Given the description of an element on the screen output the (x, y) to click on. 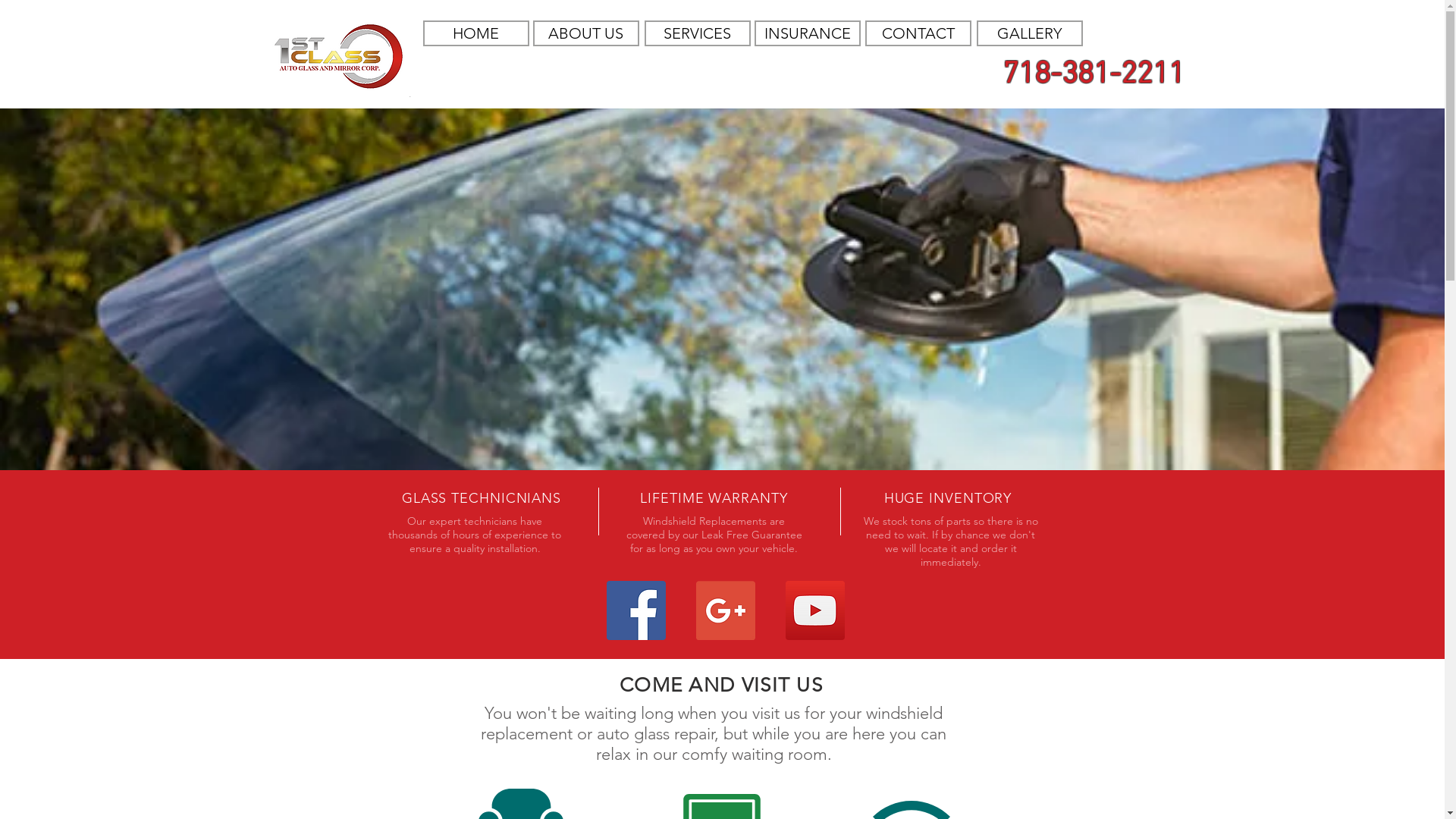
SERVICES Element type: text (698, 33)
INSURANCE Element type: text (806, 33)
HOME Element type: text (492, 33)
HOME Element type: text (476, 33)
QUOTE Element type: text (903, 74)
INSURANCE Element type: text (801, 33)
GALLERY Element type: text (1008, 33)
ABOUT US Element type: text (595, 33)
CONTACT Element type: text (905, 33)
SERVICES Element type: text (697, 33)
CLAIMS Element type: text (462, 84)
ABOUT US Element type: text (585, 33)
1STLOGO.png Element type: hover (338, 56)
GALLERY Element type: text (1029, 33)
CONTACT Element type: text (917, 33)
